Given the description of an element on the screen output the (x, y) to click on. 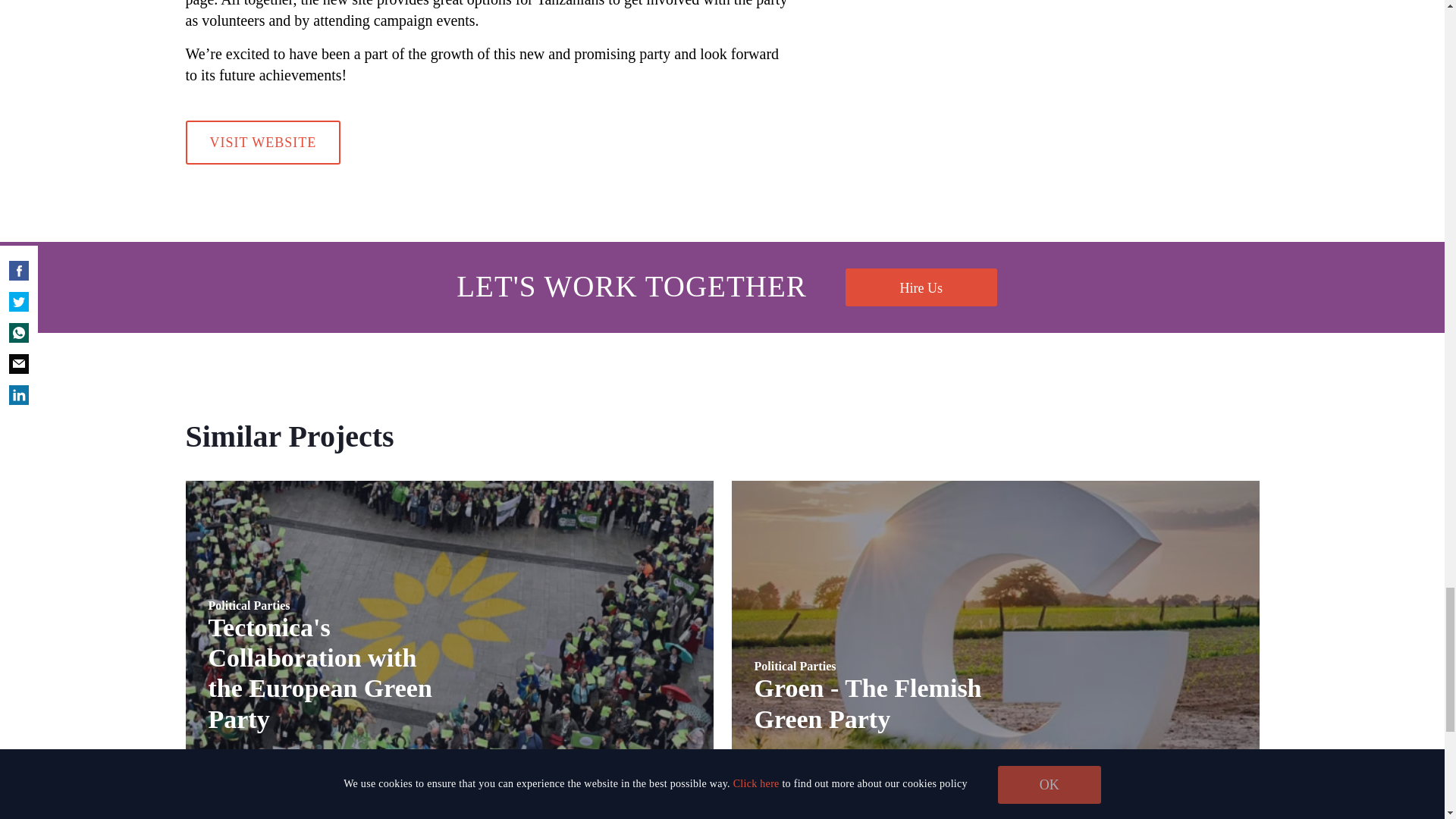
VISIT WEBSITE (921, 287)
